Given the description of an element on the screen output the (x, y) to click on. 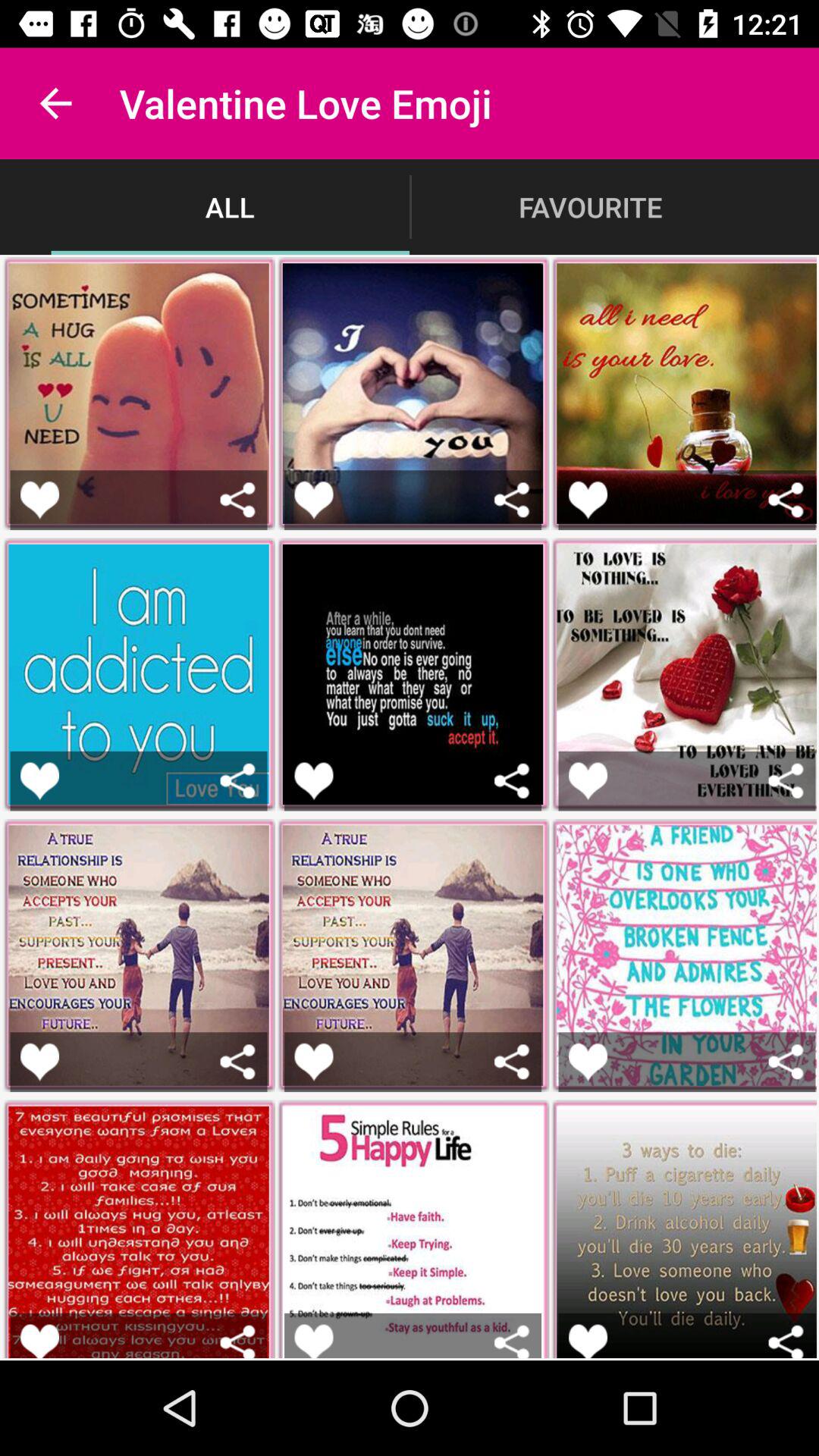
favorite image (39, 1061)
